Given the description of an element on the screen output the (x, y) to click on. 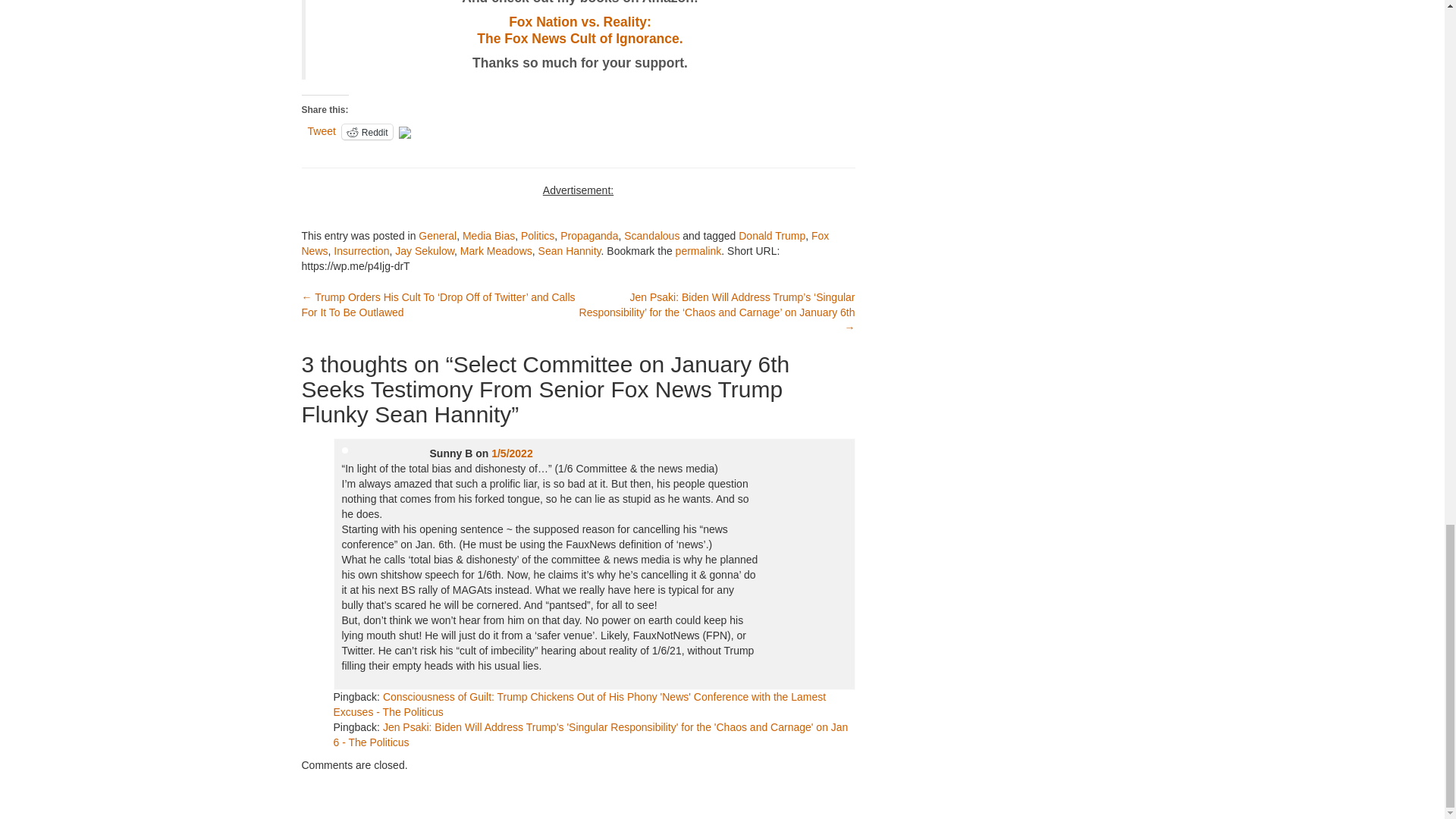
Click to share on Reddit (367, 131)
Tweet (579, 29)
